Given the description of an element on the screen output the (x, y) to click on. 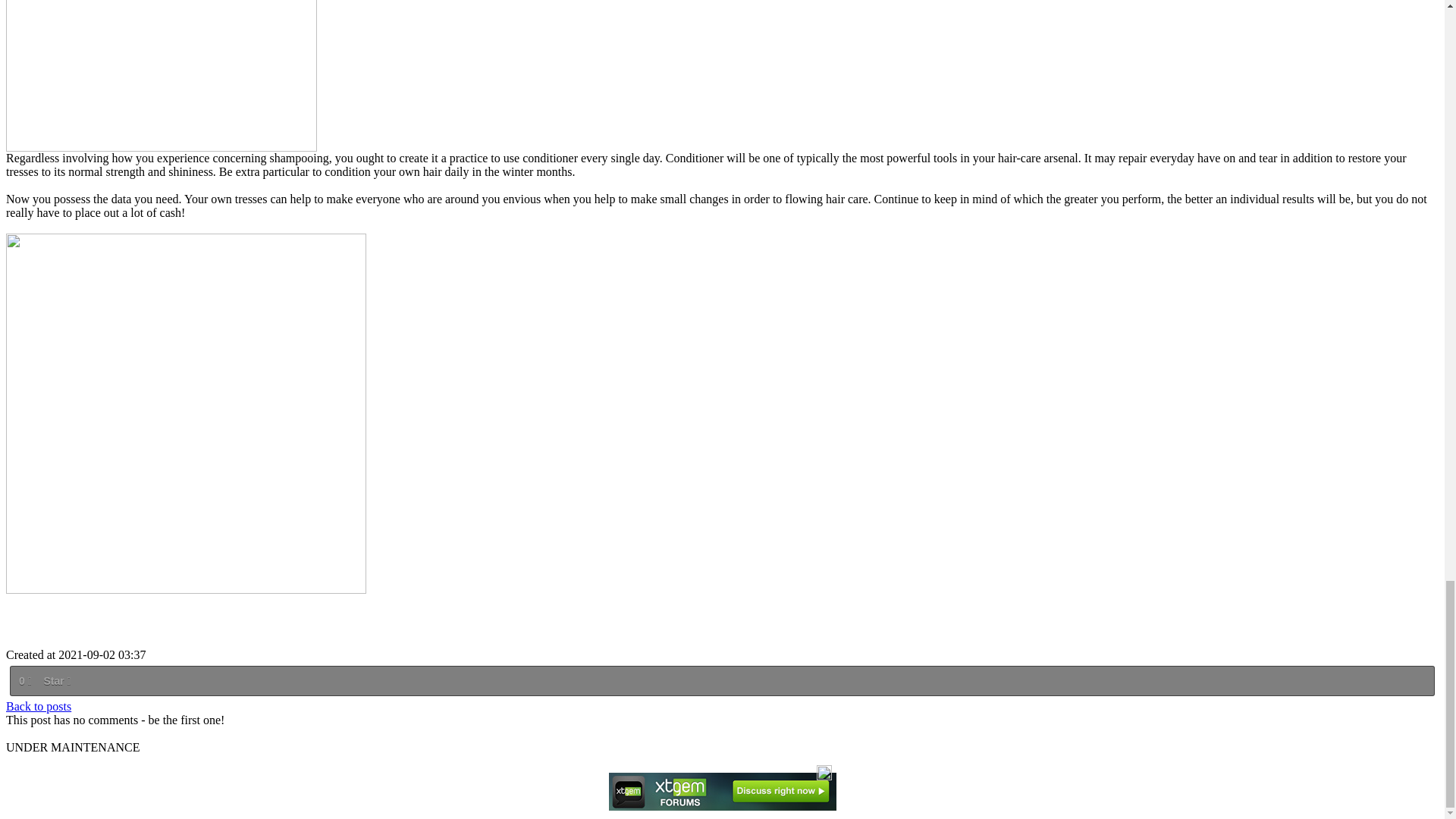
0 (24, 680)
Back to posts (38, 706)
Star (56, 680)
